Given the description of an element on the screen output the (x, y) to click on. 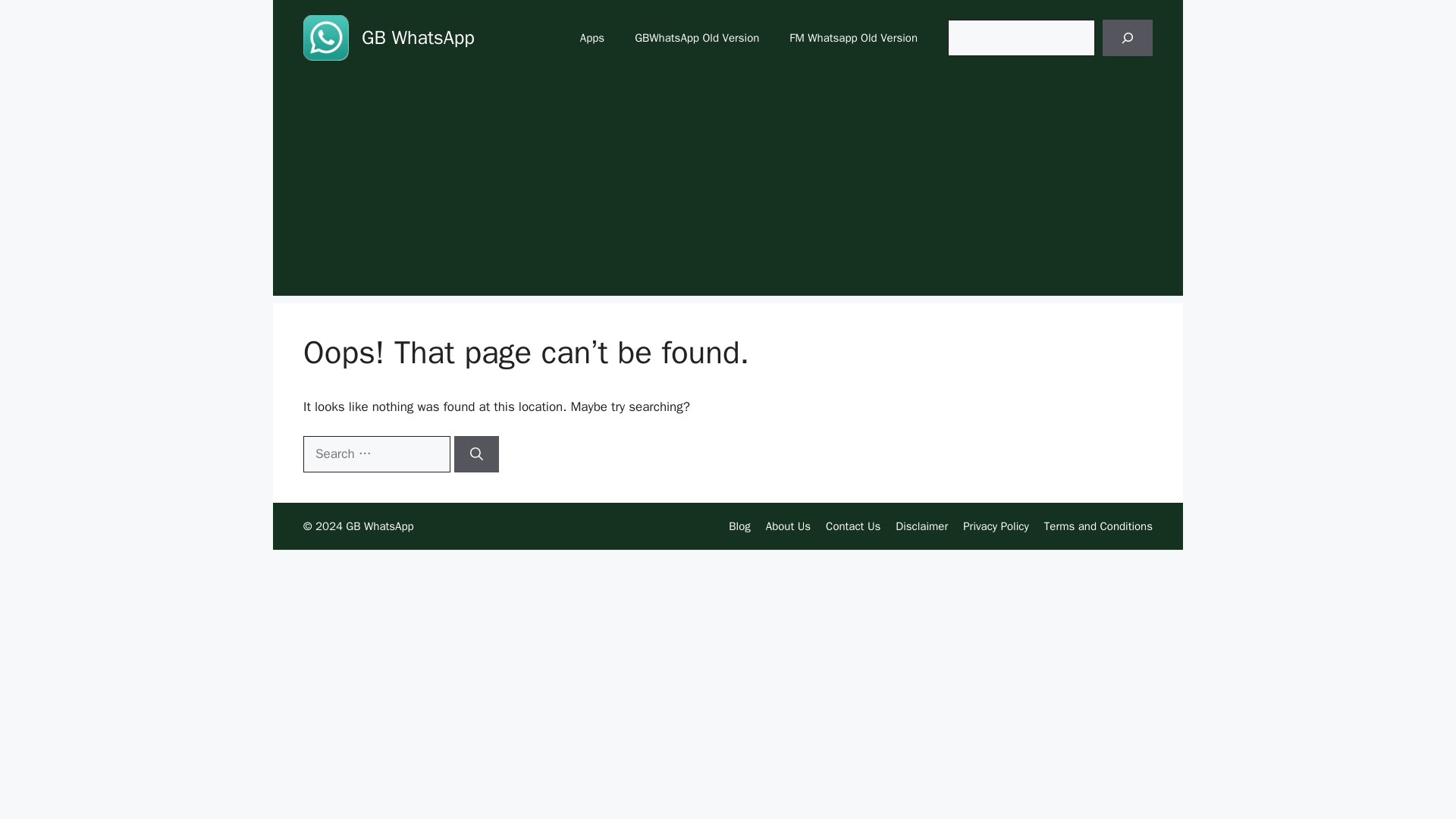
Contact Us (852, 526)
Apps (592, 37)
Terms and Conditions (1098, 526)
GB WhatsApp (417, 37)
Privacy Policy (995, 526)
GBWhatsApp Old Version (697, 37)
Search for: (375, 453)
Blog (739, 526)
Disclaimer (921, 526)
About Us (787, 526)
